Given the description of an element on the screen output the (x, y) to click on. 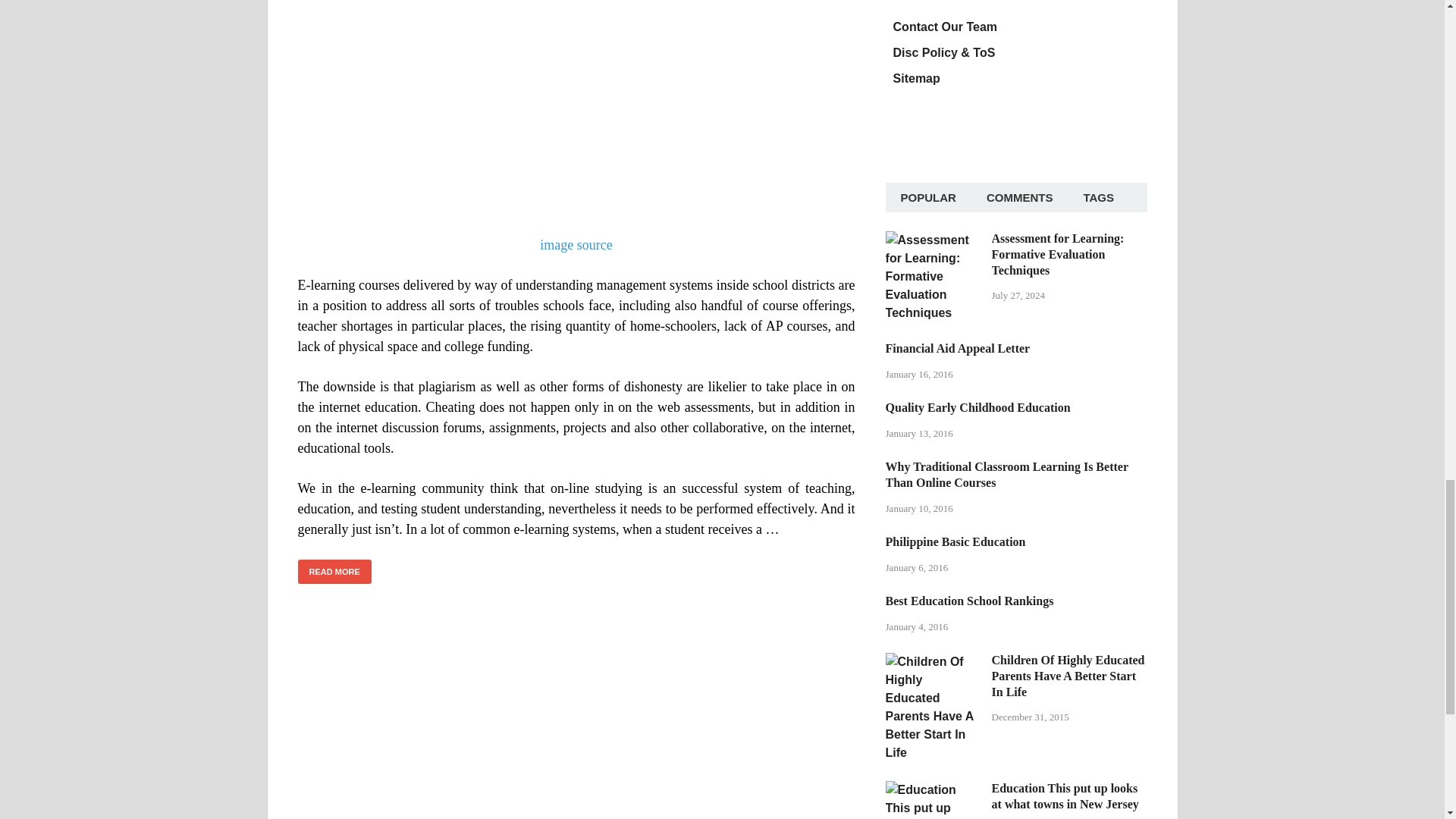
Assessment for Learning: Formative Evaluation Techniques (932, 239)
Education This put up looks at what towns in New Jersey (932, 789)
